Given the description of an element on the screen output the (x, y) to click on. 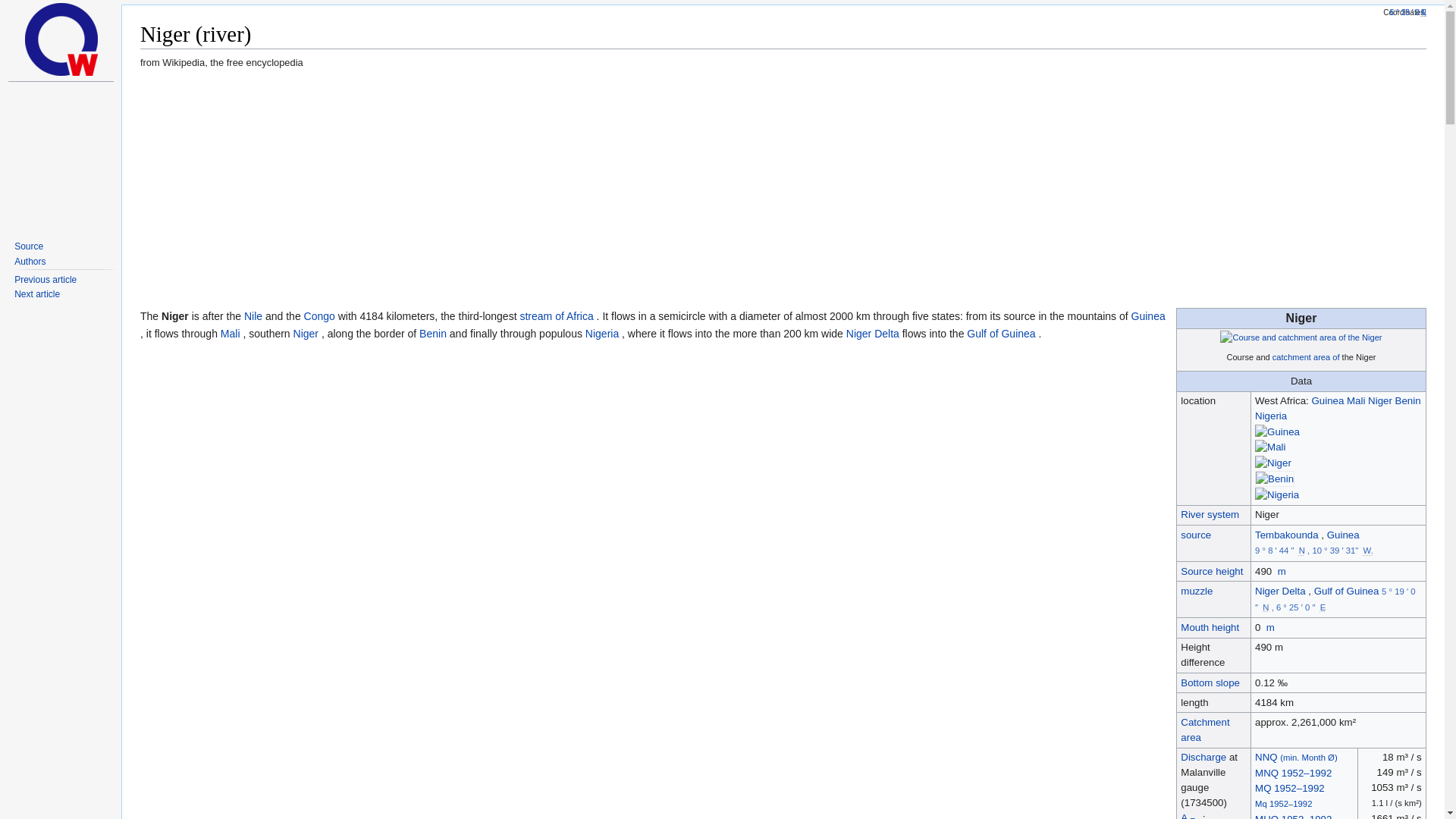
Catchment area (1305, 356)
Source height (1211, 571)
Funakoshi Gichin (36, 294)
Niger Delta (1280, 591)
Mali (1357, 400)
Gulf of Guinea (1347, 591)
Mali (1357, 400)
Next article (36, 294)
Karakum Canal (45, 279)
catchment area of (1305, 356)
Tembakounda (1287, 534)
Nigeria (1271, 415)
Guinea (1342, 534)
